Given the description of an element on the screen output the (x, y) to click on. 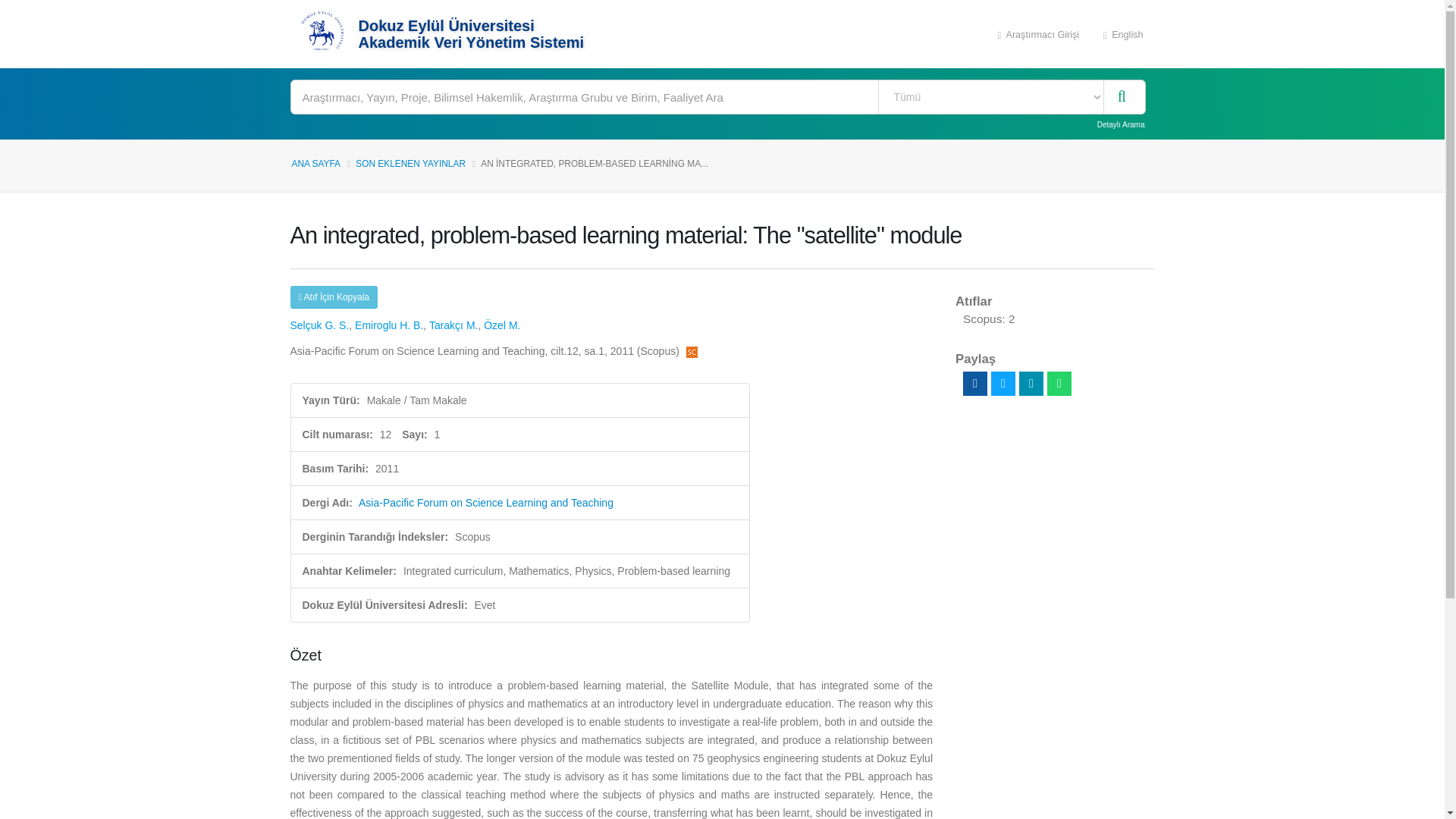
Handan Byacioglu Emiroglu (389, 325)
ANA SAYFA (315, 163)
English (1123, 33)
Emiroglu H. B. (389, 325)
Asia-Pacific Forum on Science Learning and Teaching (485, 502)
SON EKLENEN YAYINLAR (410, 163)
